Given the description of an element on the screen output the (x, y) to click on. 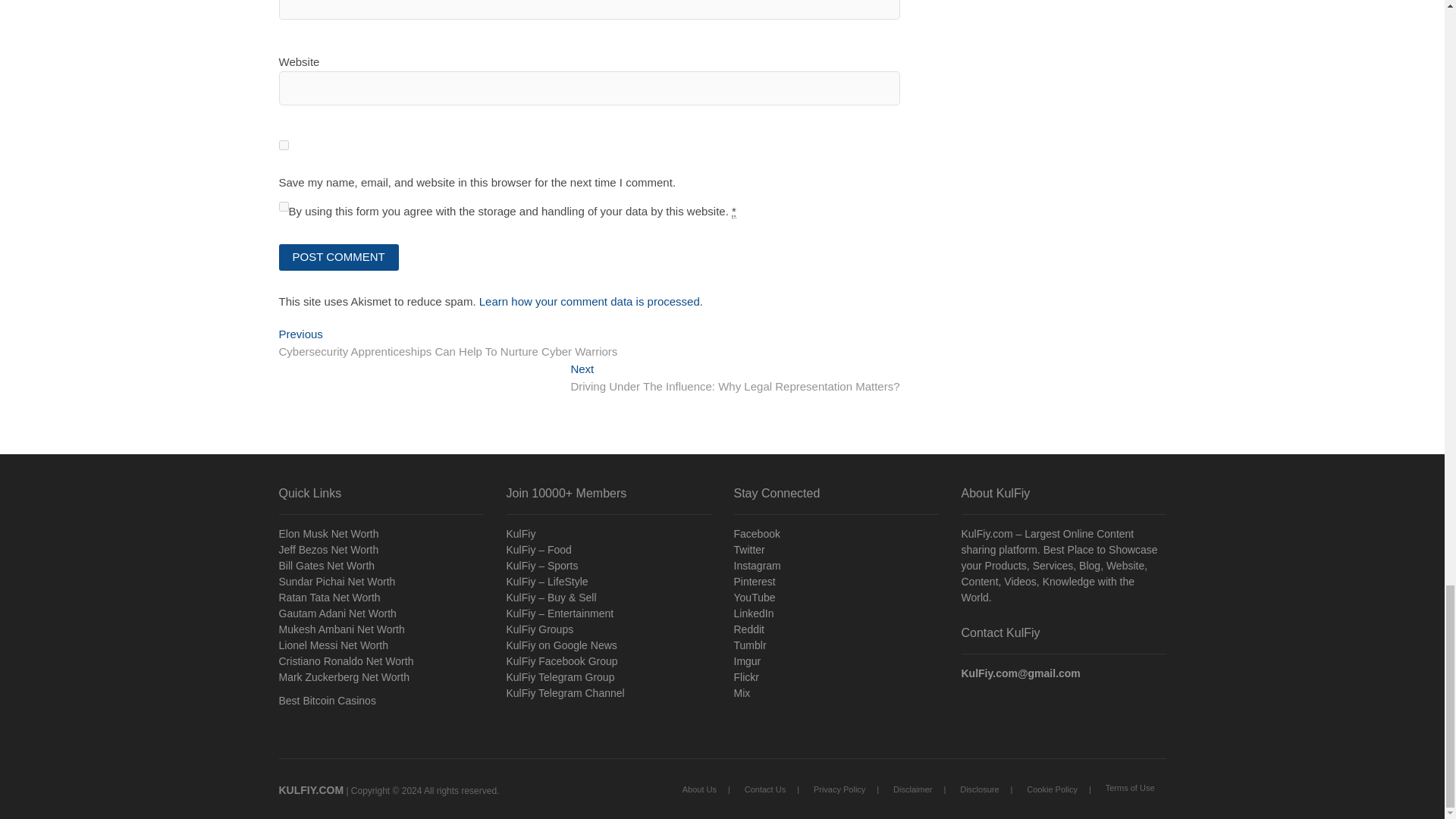
KULFIY.COM (311, 788)
Post Comment (338, 257)
1 (283, 206)
noreferrer noopener (381, 700)
yes (283, 144)
